Given the description of an element on the screen output the (x, y) to click on. 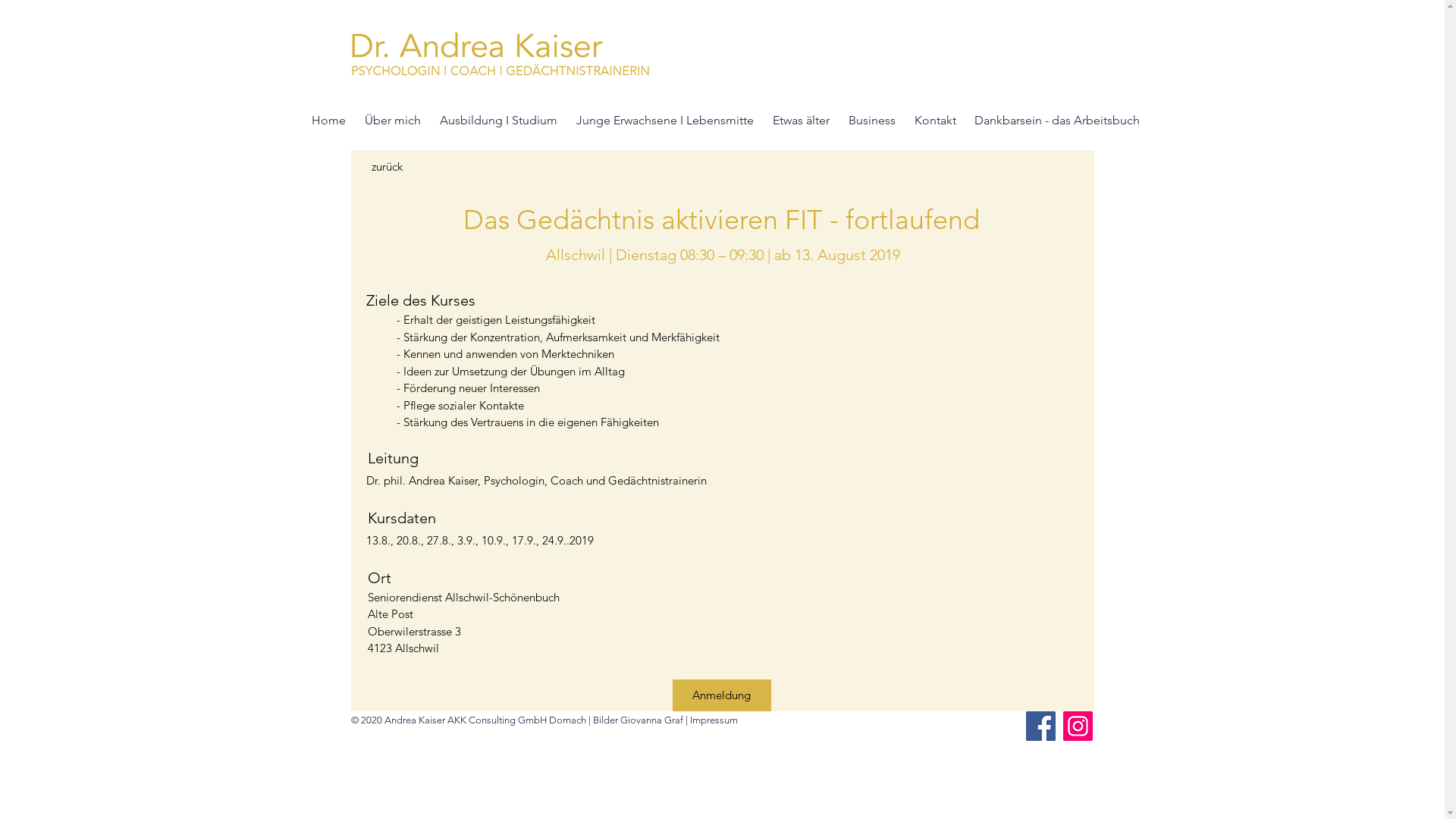
Home Element type: text (329, 120)
Ausbildung I Studium Element type: text (500, 120)
Business Element type: text (873, 120)
Dankbarsein - das Arbeitsbuch Element type: text (1057, 120)
Junge Erwachsene I Lebensmitte Element type: text (666, 120)
Impressum Element type: text (713, 719)
Kontakt Element type: text (936, 120)
Anmeldung Element type: text (720, 695)
